Given the description of an element on the screen output the (x, y) to click on. 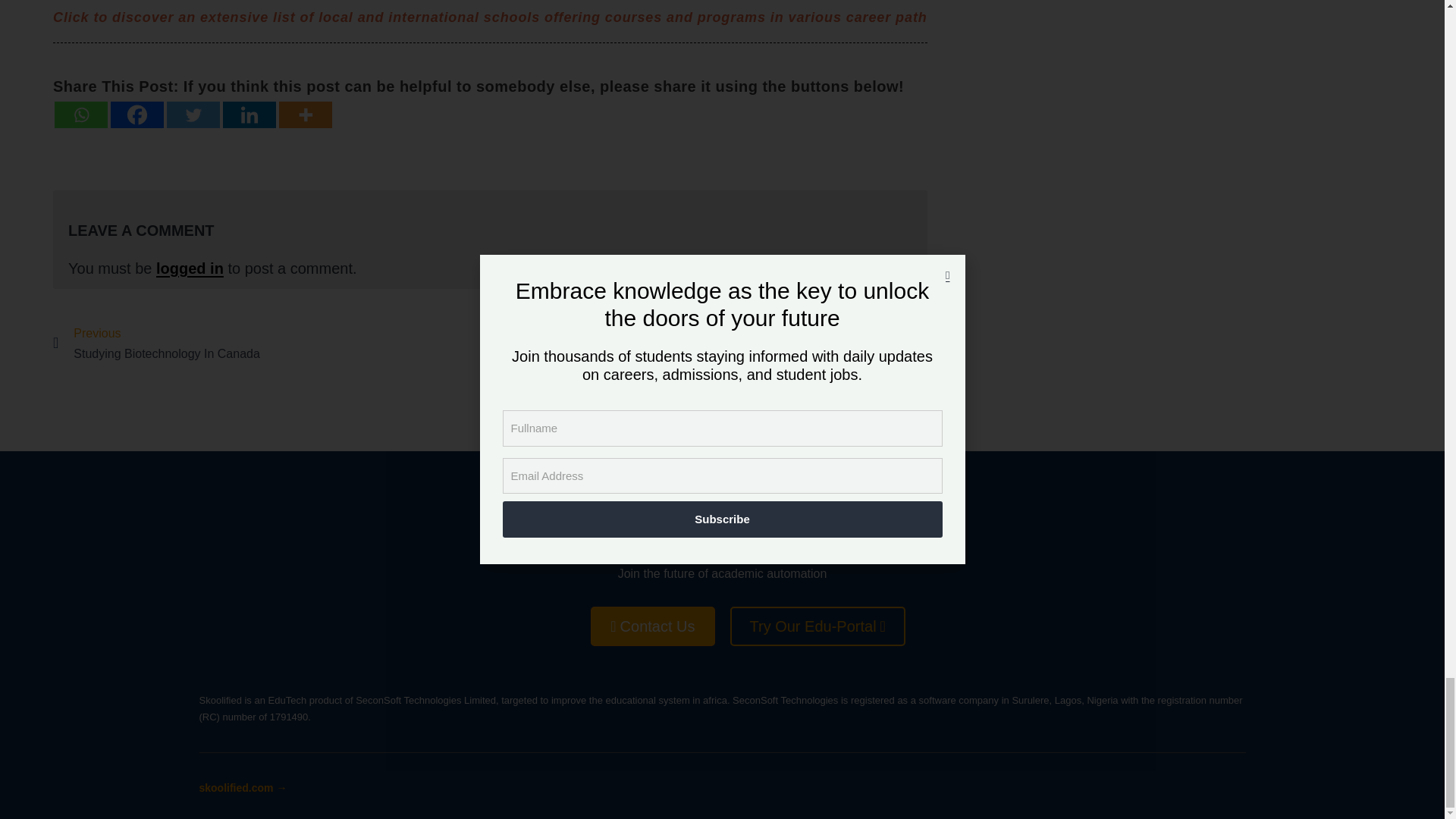
Whatsapp (81, 114)
Facebook (136, 114)
logged in (708, 342)
Twitter (270, 342)
Linkedin (189, 268)
More (193, 114)
